Given the description of an element on the screen output the (x, y) to click on. 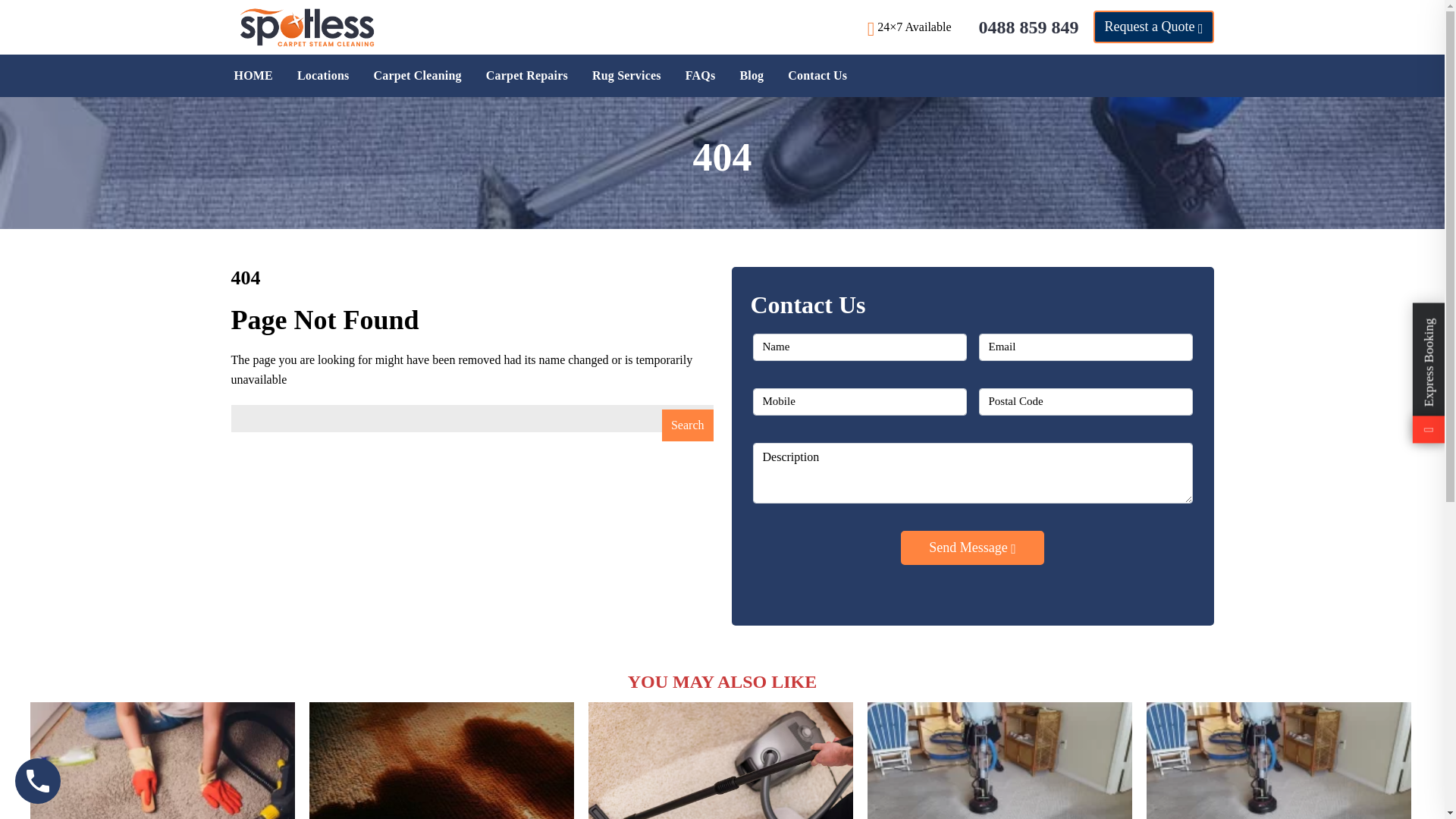
Carpet Cleaning (416, 75)
HOME (252, 75)
Search (687, 425)
Request a Quote (1152, 26)
FAQs (700, 75)
Carpet Repairs (526, 75)
Rug Services (626, 75)
Locations (322, 75)
0488 859 849 (1028, 27)
